Given the description of an element on the screen output the (x, y) to click on. 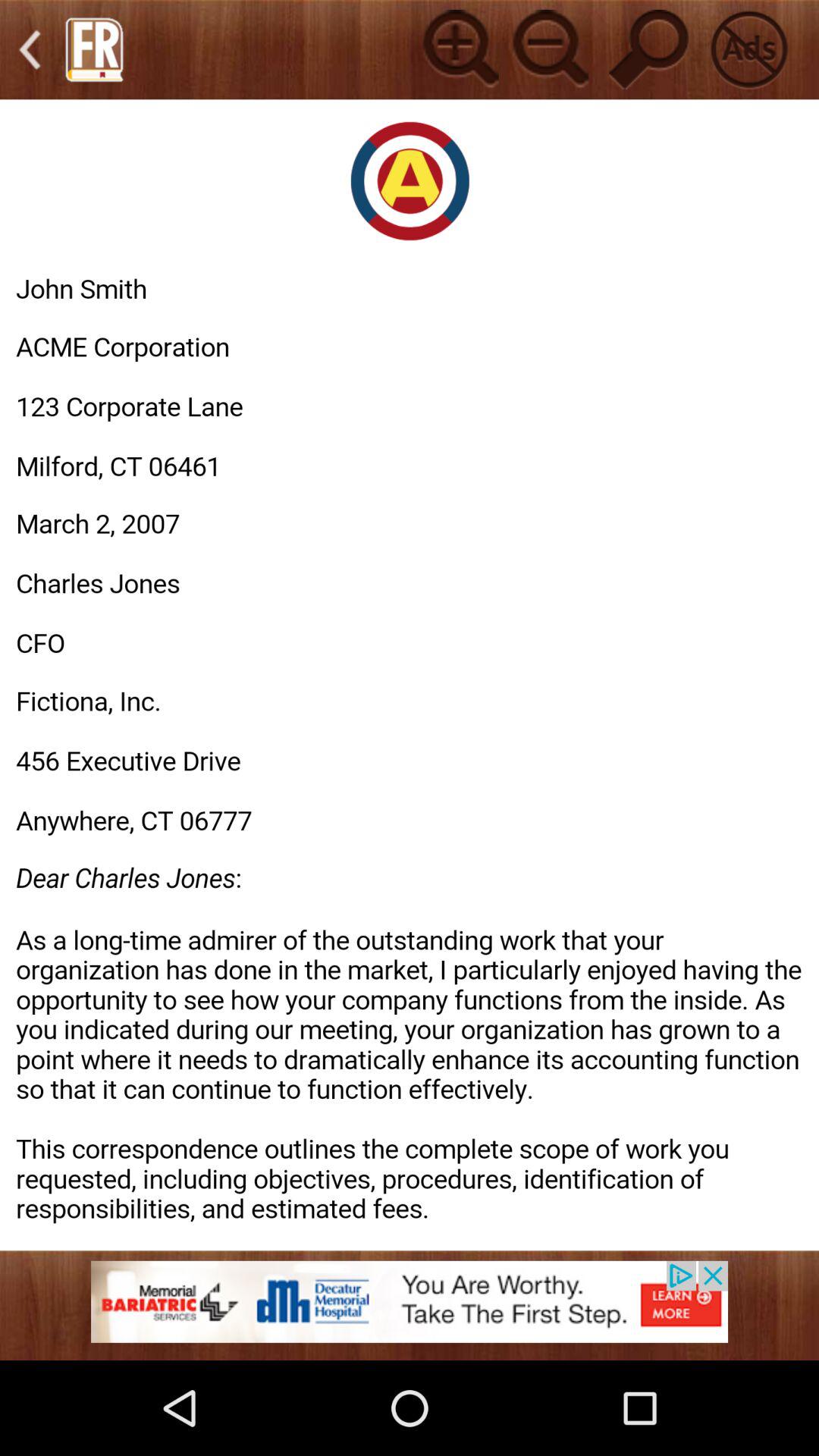
cut the adtervisement (748, 49)
